Given the description of an element on the screen output the (x, y) to click on. 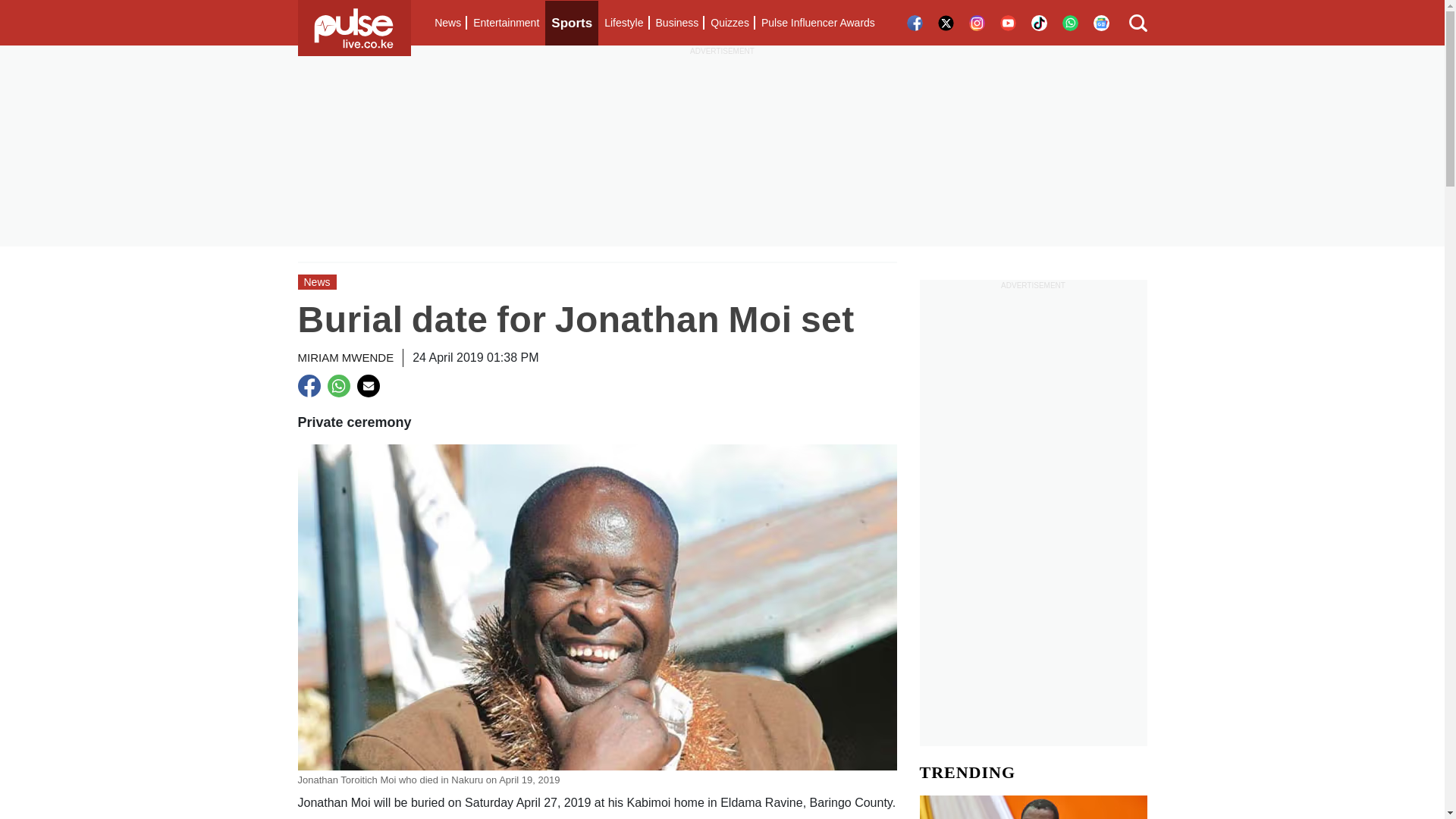
Pulse Influencer Awards (817, 22)
Business (676, 22)
Lifestyle (623, 22)
Sports (571, 22)
Entertainment (505, 22)
Quizzes (729, 22)
